Given the description of an element on the screen output the (x, y) to click on. 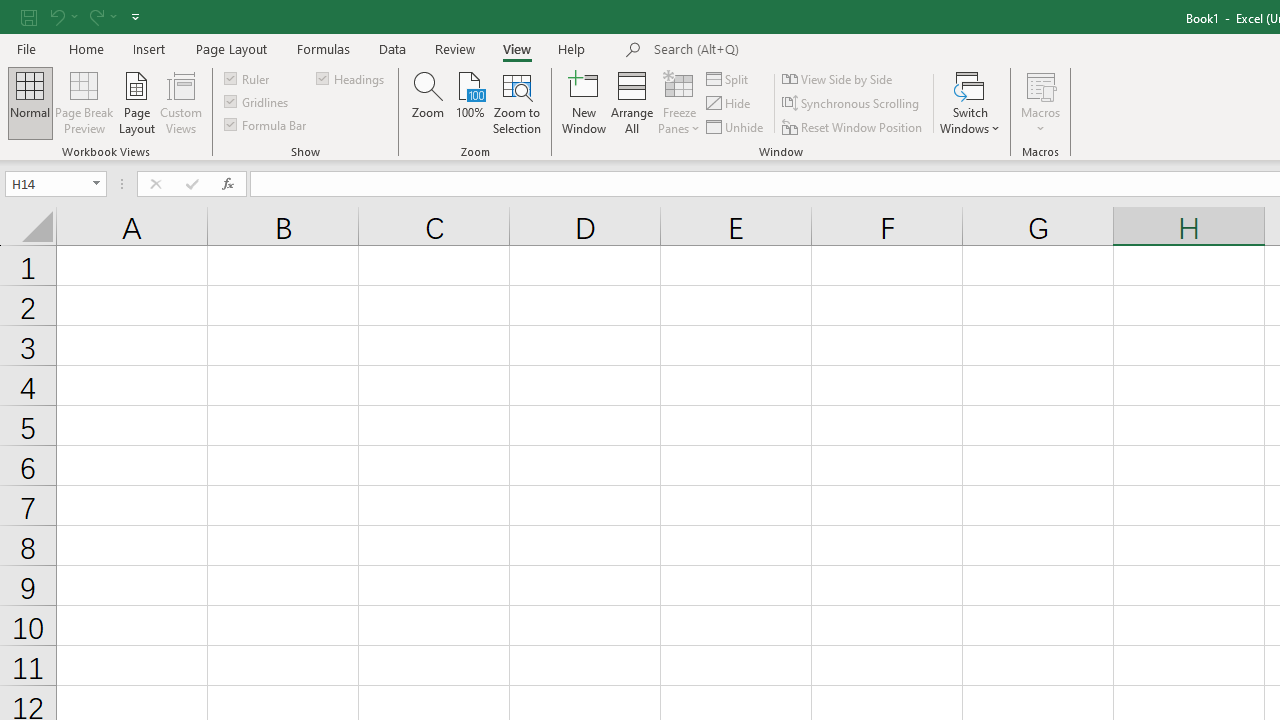
Zoom to Selection (517, 102)
Split (728, 78)
Zoom... (428, 102)
Unhide... (736, 126)
Hide (729, 103)
Switch Windows (970, 102)
